Given the description of an element on the screen output the (x, y) to click on. 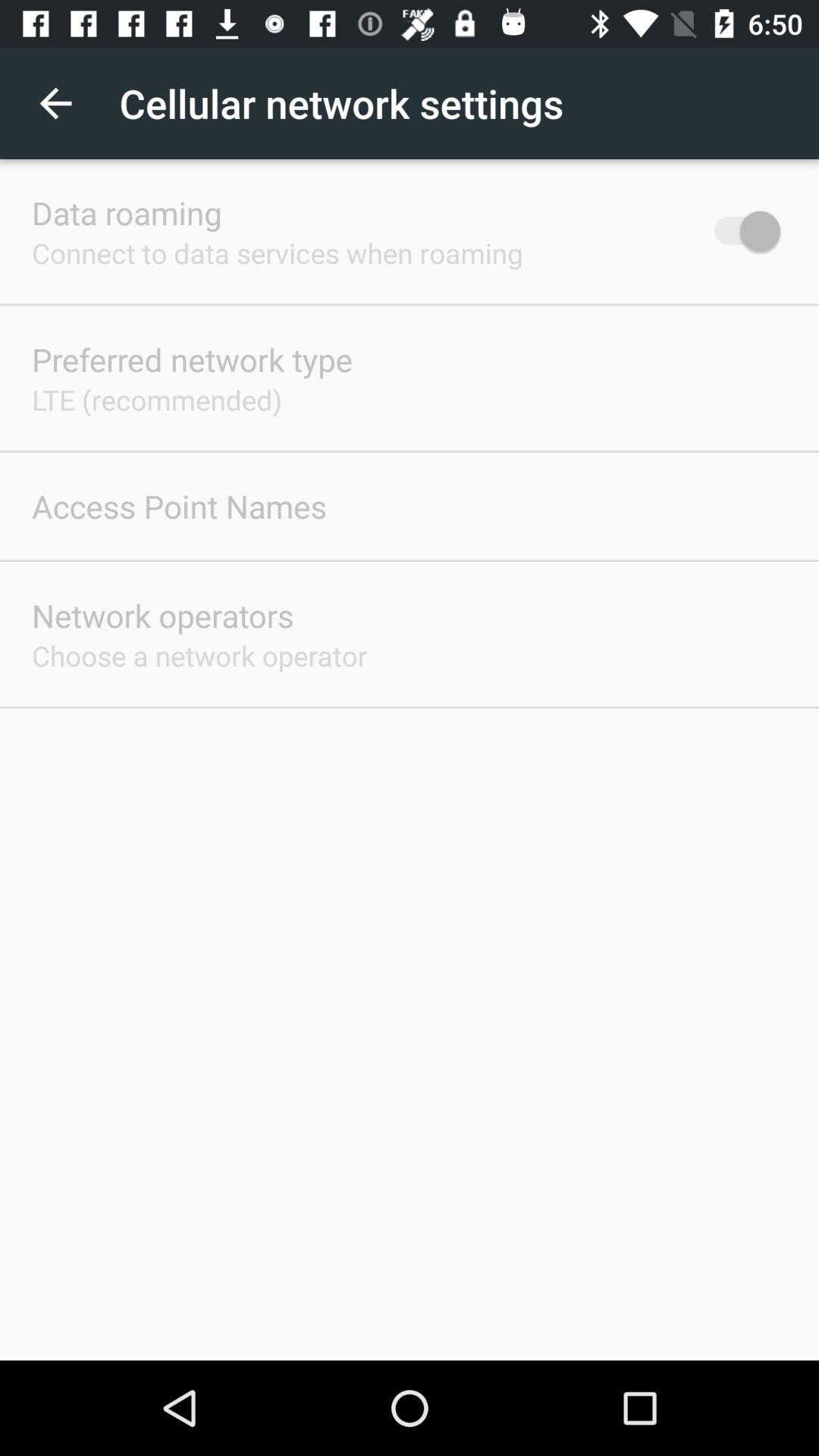
turn on the icon below access point names item (162, 615)
